Given the description of an element on the screen output the (x, y) to click on. 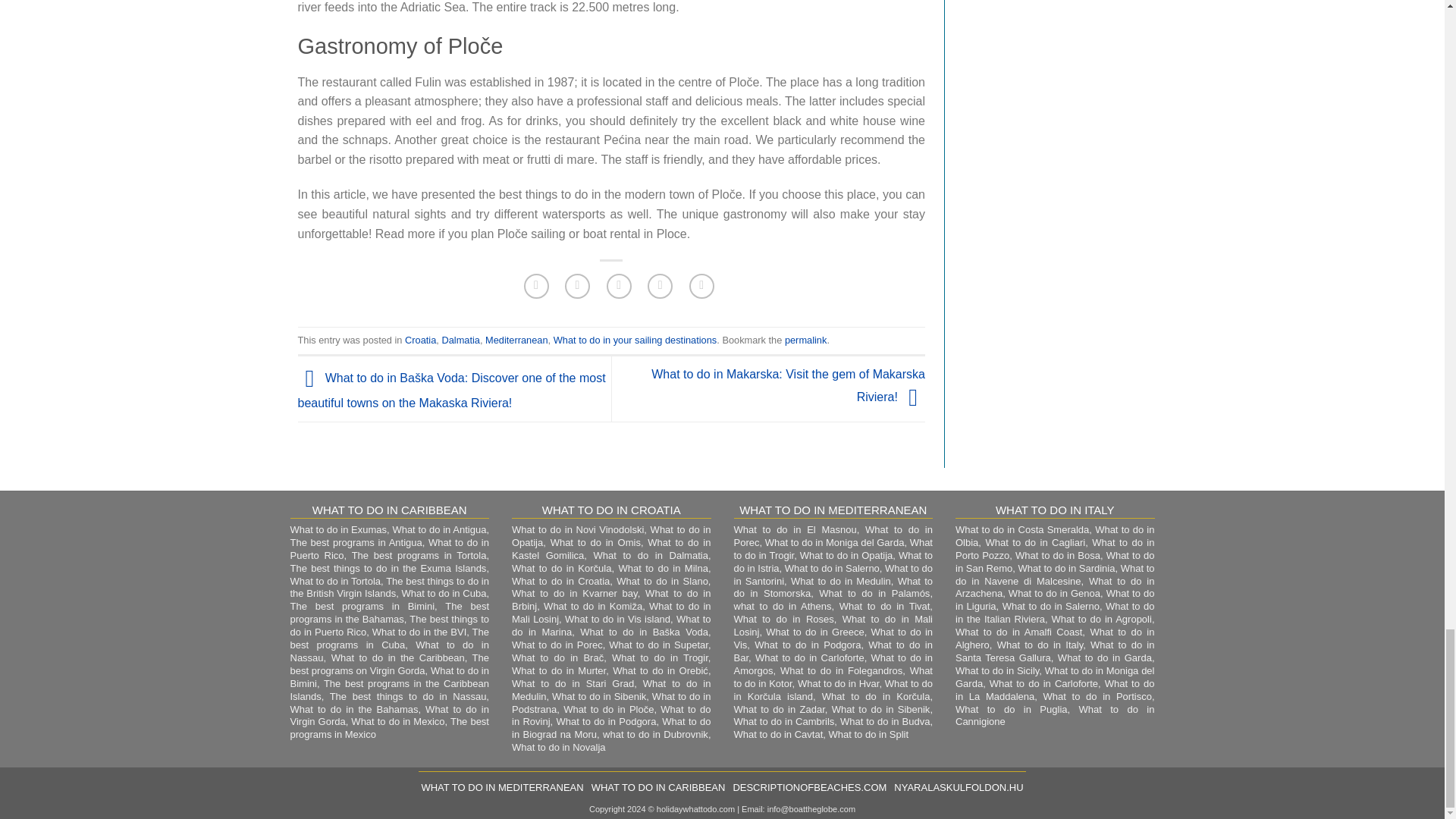
Email to a Friend (619, 285)
Pin on Pinterest (659, 285)
Share on Twitter (576, 285)
Share on Facebook (536, 285)
Share on LinkedIn (701, 285)
